Given the description of an element on the screen output the (x, y) to click on. 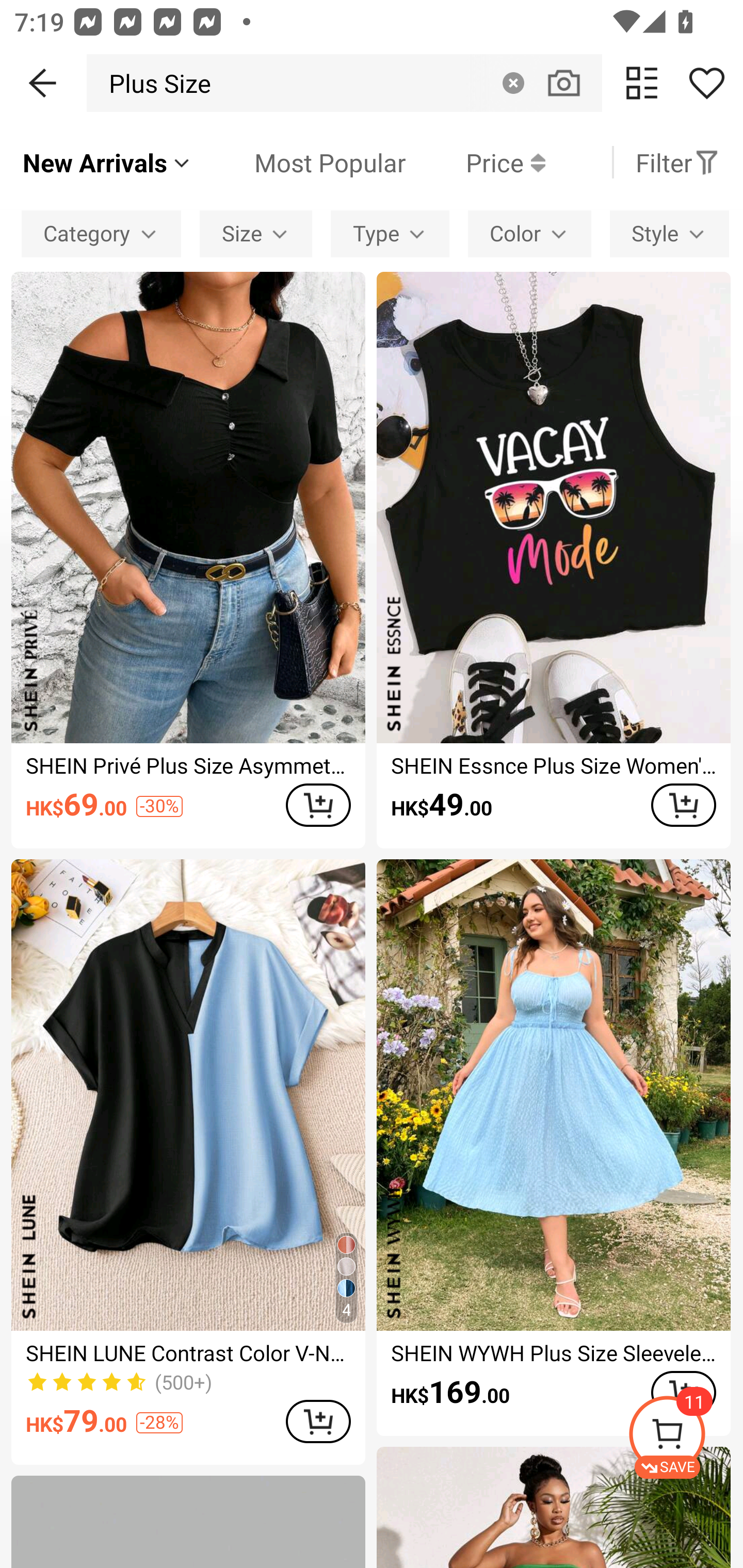
Plus Size Clear (343, 82)
Plus Size (153, 82)
Clear (513, 82)
change view (641, 82)
Share (706, 82)
New Arrivals (107, 162)
Most Popular (299, 162)
Price (475, 162)
Filter (677, 162)
Category (101, 233)
Size (255, 233)
Type (389, 233)
Color (529, 233)
Style (669, 233)
ADD TO CART (318, 805)
ADD TO CART (683, 805)
SAVE (685, 1436)
ADD TO CART (318, 1421)
